Given the description of an element on the screen output the (x, y) to click on. 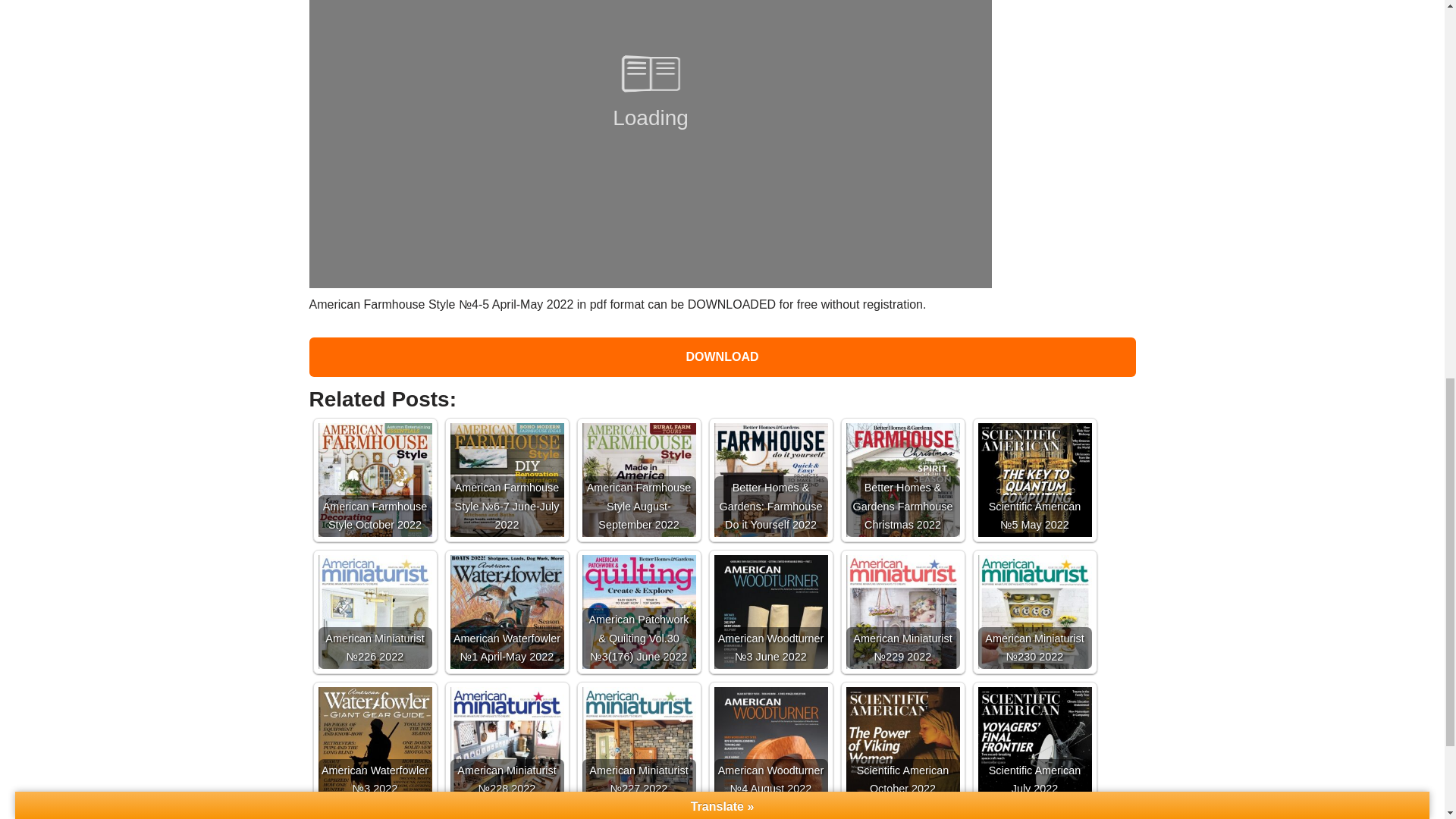
American Farmhouse Style August-September 2022 (638, 494)
American Farmhouse Style October 2022 (375, 494)
